Given the description of an element on the screen output the (x, y) to click on. 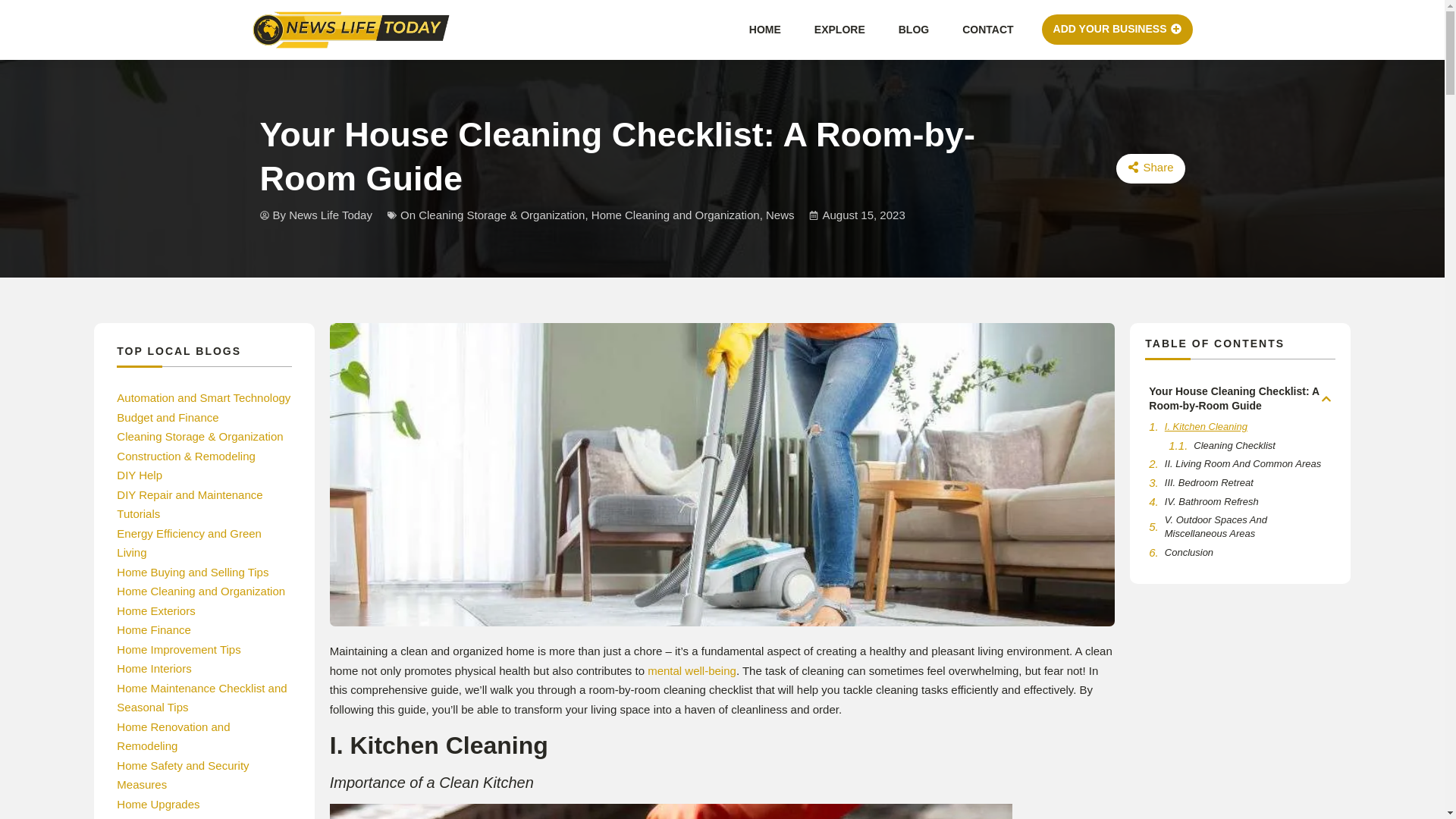
Home Improvement Tips (178, 649)
CONTACT (987, 29)
BLOG (913, 29)
Home Cleaning and Organization (200, 590)
EXPLORE (839, 29)
Home Exteriors (155, 610)
Home Safety and Security Measures (182, 775)
Budget and Finance (167, 417)
Home Upgrades (157, 803)
Automation and Smart Technology (202, 397)
Home Renovation and Remodeling (173, 736)
ADD YOUR BUSINESS (1117, 29)
DIY Repair and Maintenance Tutorials (189, 504)
Home Maintenance Checklist and Seasonal Tips (201, 697)
DIY Help (138, 474)
